Given the description of an element on the screen output the (x, y) to click on. 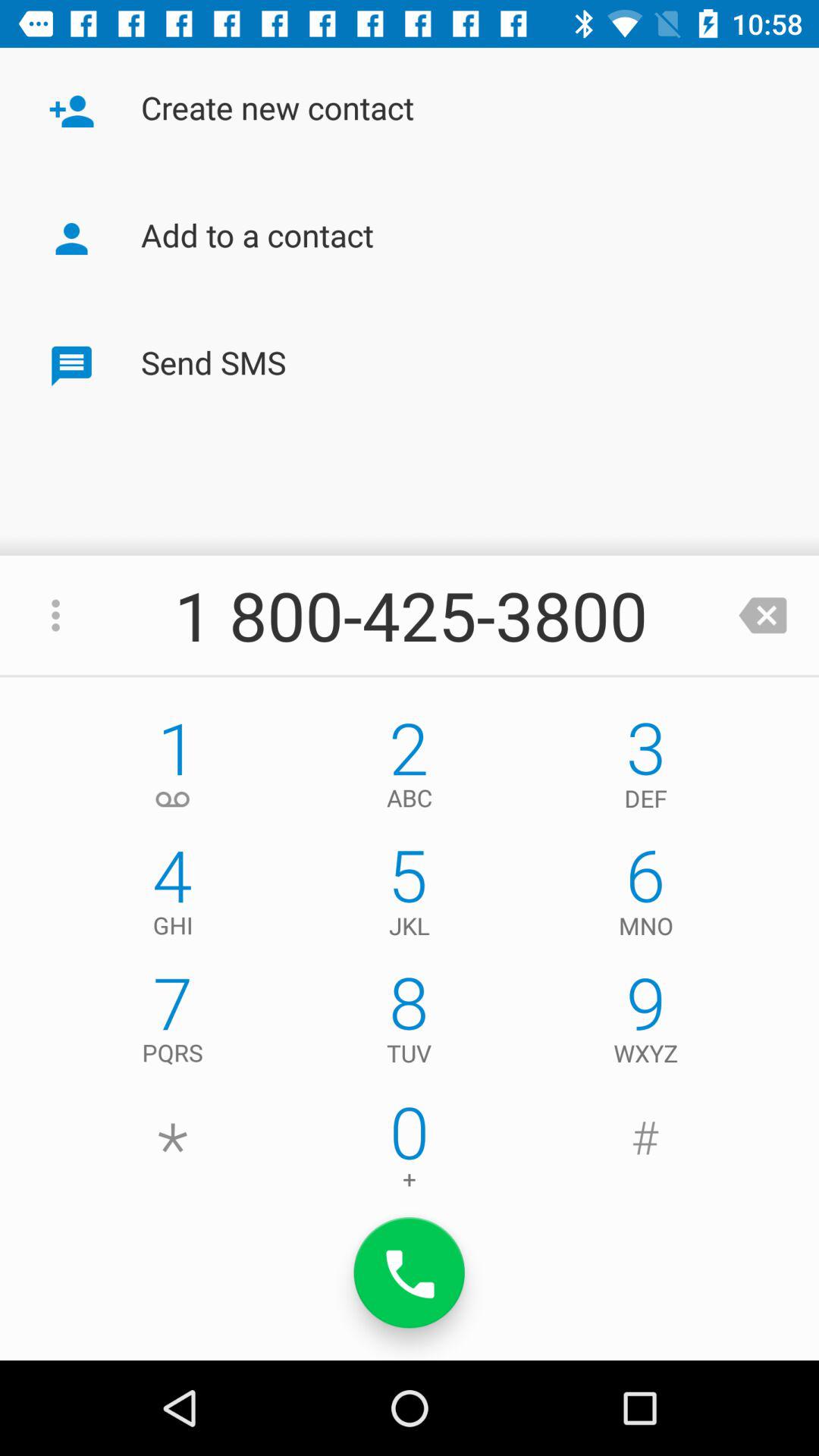
go to three in number pad (645, 768)
5 (409, 895)
select the symbol which is to the immediate left of the 0 in the dial pad (172, 1150)
click on 9 which is in dial pad (645, 1023)
